Given the description of an element on the screen output the (x, y) to click on. 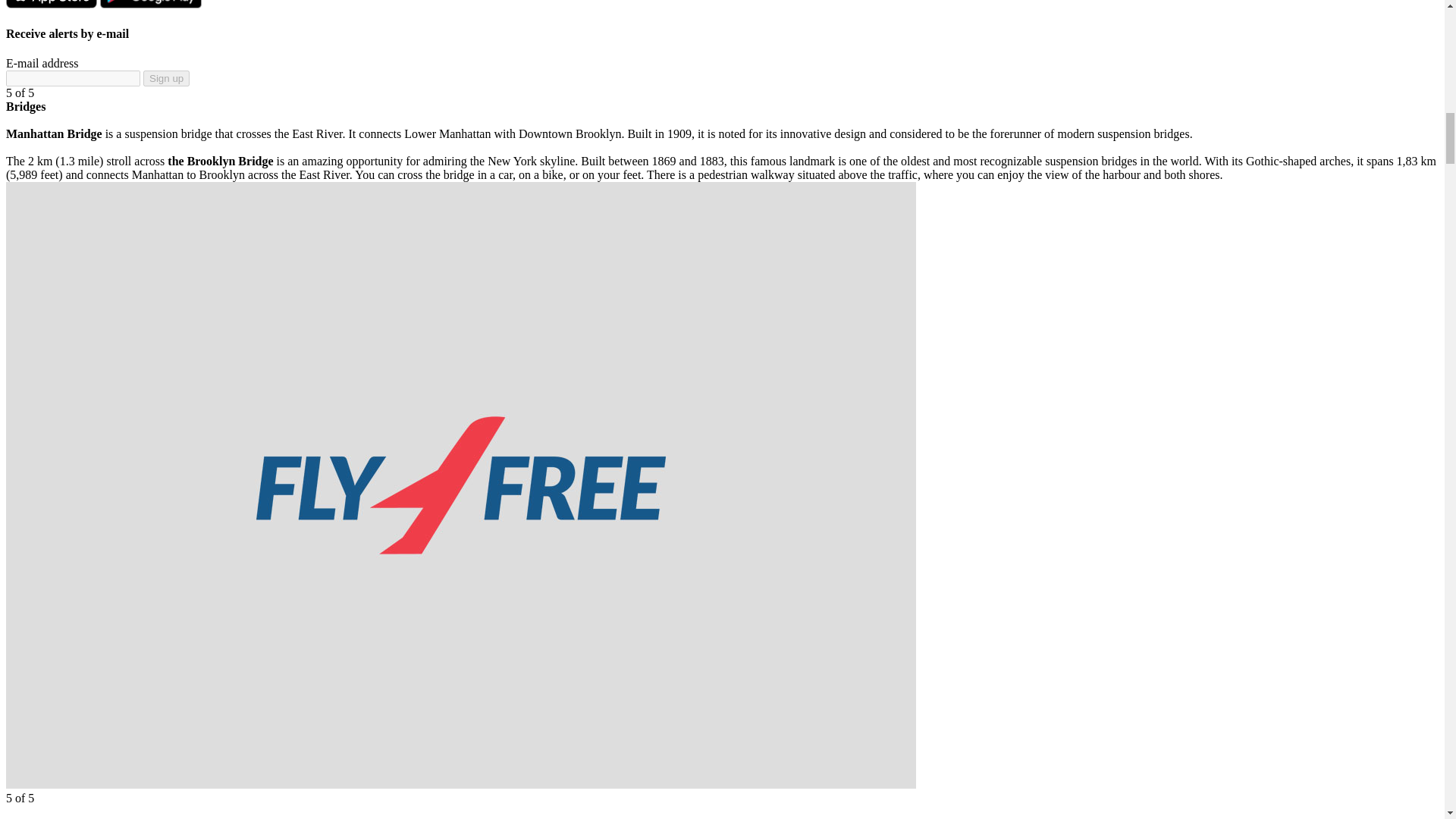
Sign up (165, 78)
